Given the description of an element on the screen output the (x, y) to click on. 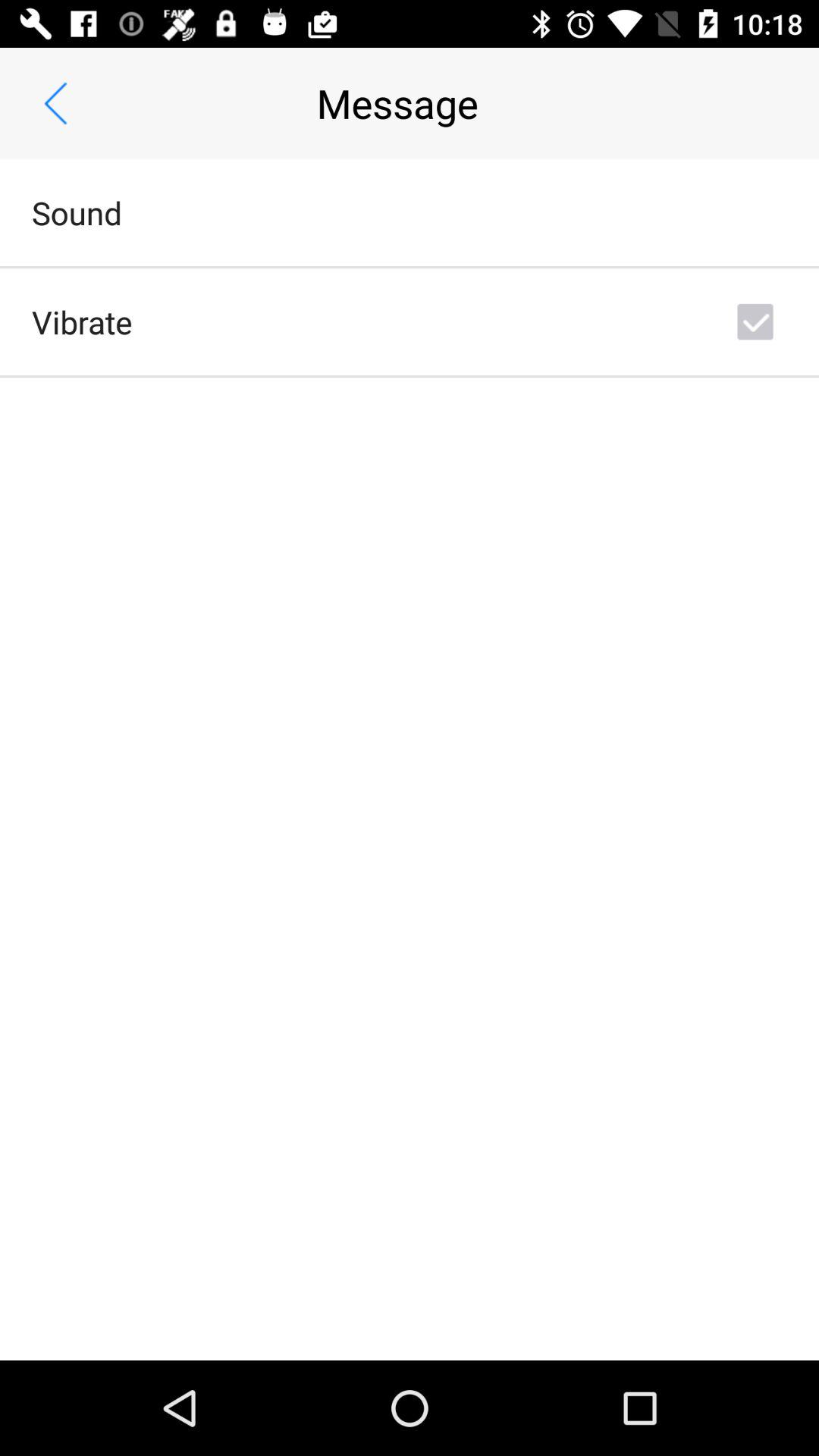
turn on the item below the sound icon (81, 321)
